Given the description of an element on the screen output the (x, y) to click on. 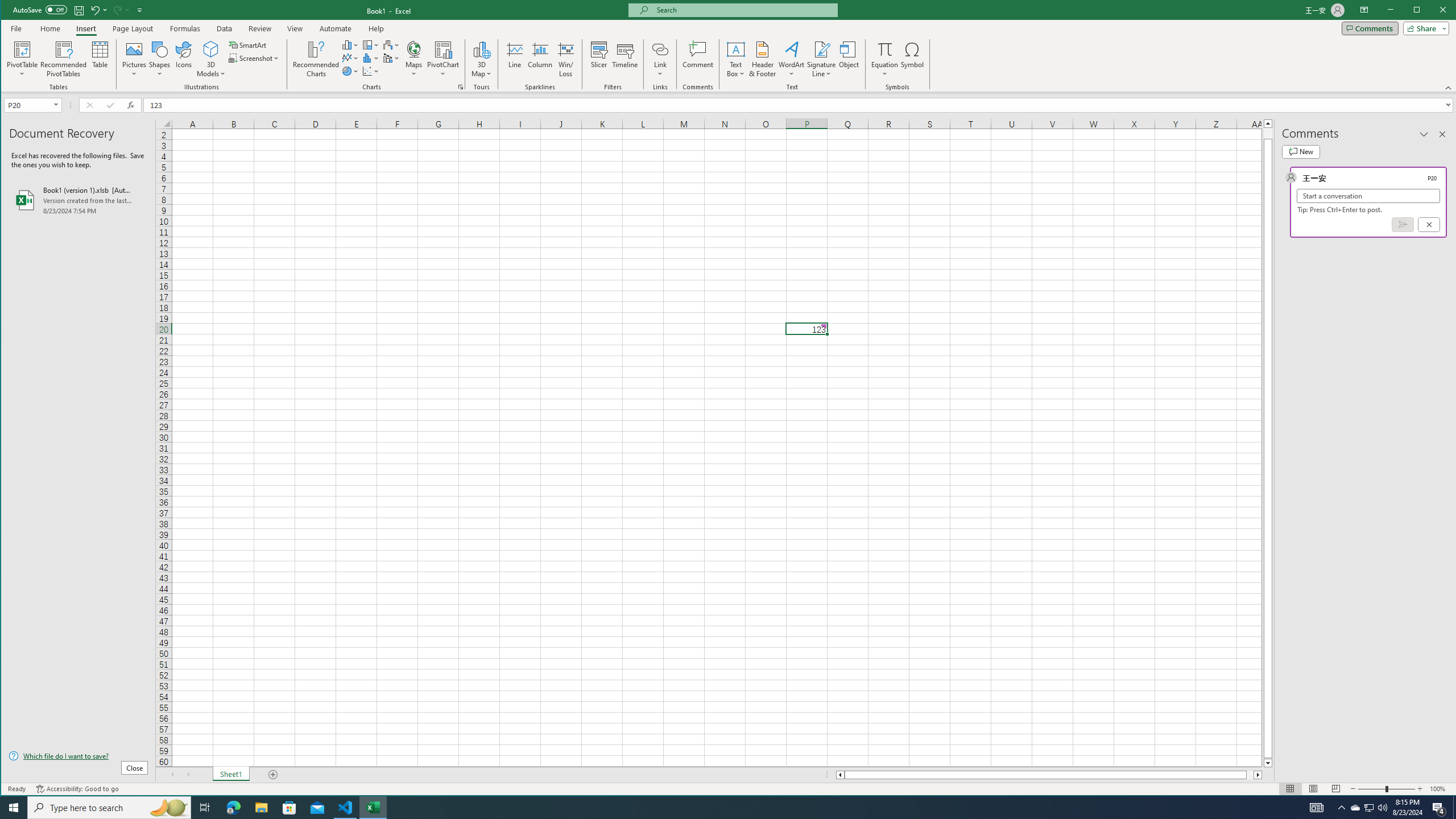
Header & Footer... (762, 59)
Insert Hierarchy Chart (371, 44)
Signature Line (821, 48)
Text Box (735, 59)
